Given the description of an element on the screen output the (x, y) to click on. 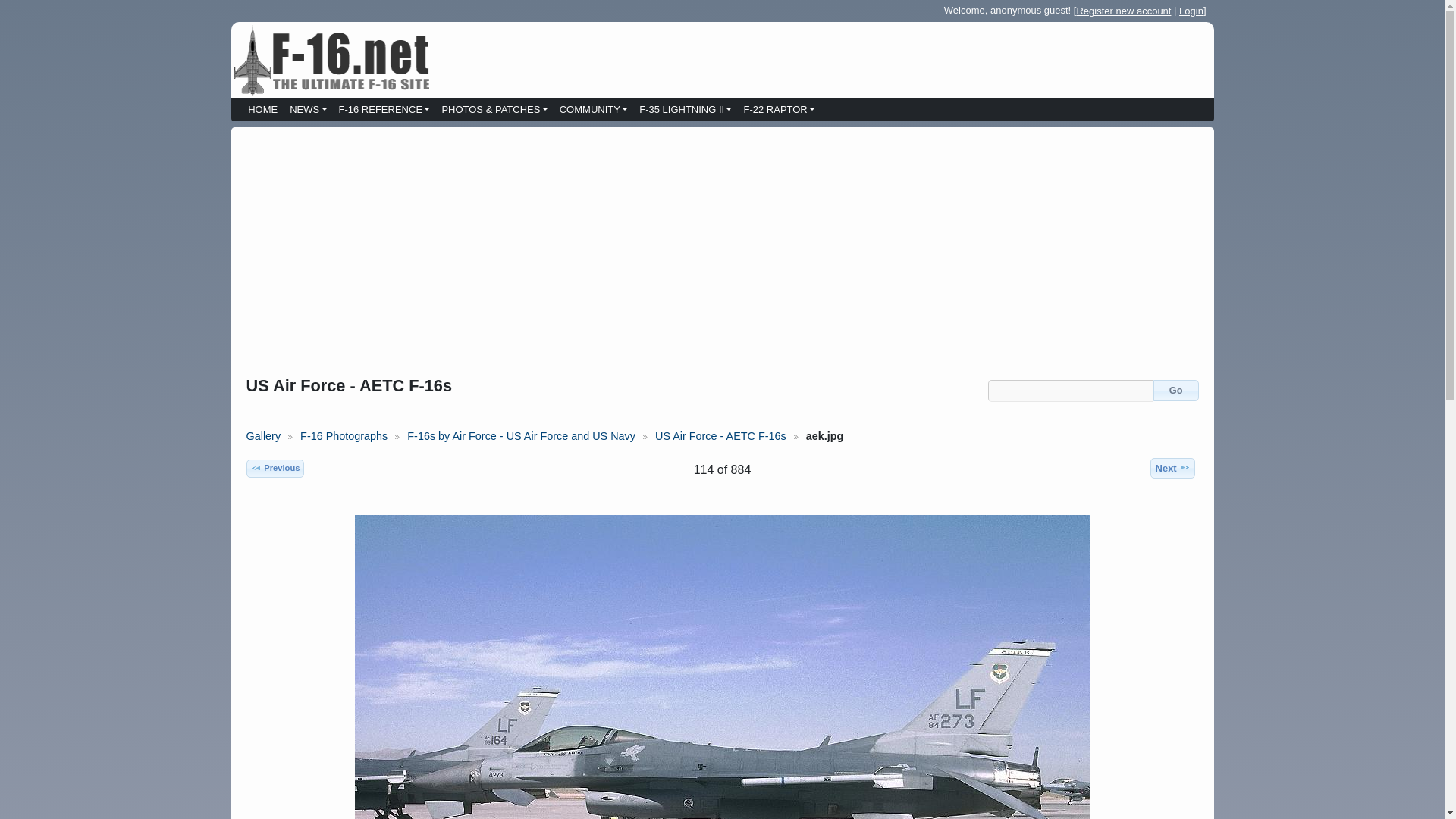
F-35 Lightning II (684, 110)
Photos and Patches (494, 110)
F-16 REFERENCE (384, 110)
Community (593, 110)
F-16 Reference (384, 110)
NEWS (307, 110)
F-16.net homepage (330, 58)
HOME (262, 110)
F-16.net homepage (262, 110)
News (307, 110)
